Given the description of an element on the screen output the (x, y) to click on. 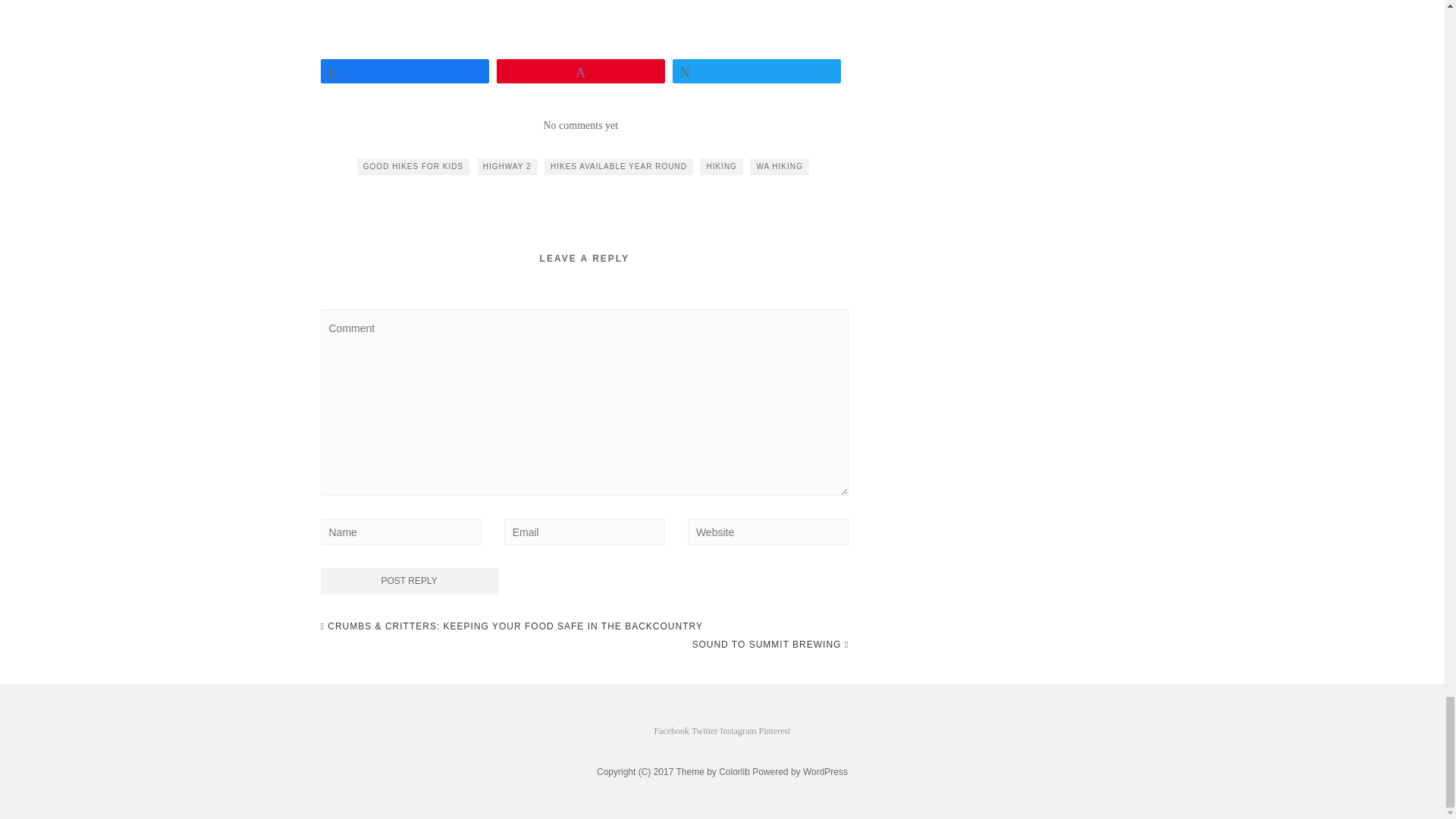
WA HIKING (778, 166)
Post Reply (408, 581)
HIKES AVAILABLE YEAR ROUND (618, 166)
HIGHWAY 2 (507, 166)
No comments yet (580, 125)
HIKING (721, 166)
SOUND TO SUMMIT BREWING (769, 644)
GOOD HIKES FOR KIDS (412, 166)
Post Reply (408, 581)
